Given the description of an element on the screen output the (x, y) to click on. 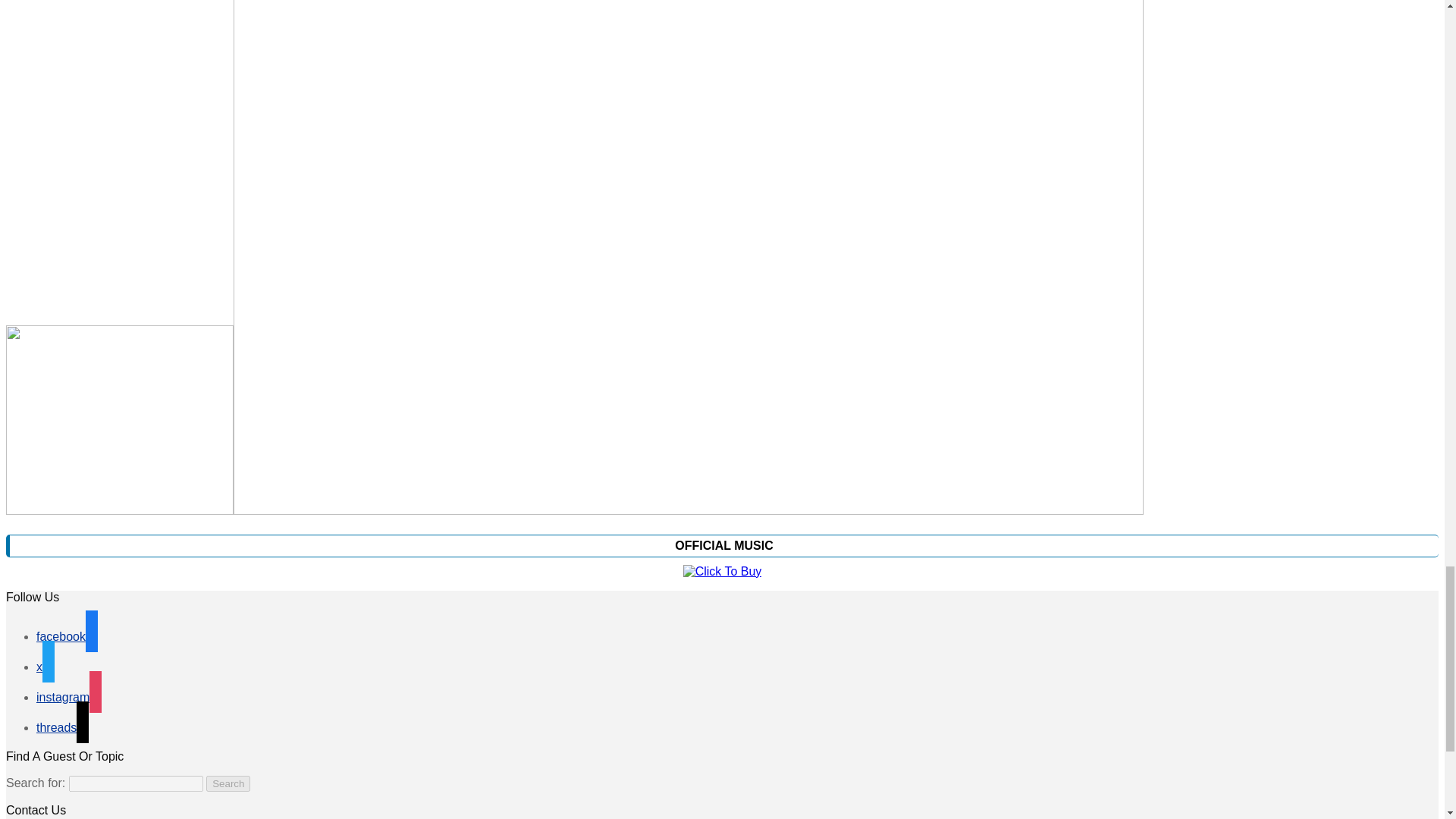
Instagram (68, 697)
Twitter (45, 666)
Facebook (66, 635)
x (45, 666)
facebook (66, 635)
Search (228, 783)
threads (62, 727)
instagram (68, 697)
Search (228, 783)
